Given the description of an element on the screen output the (x, y) to click on. 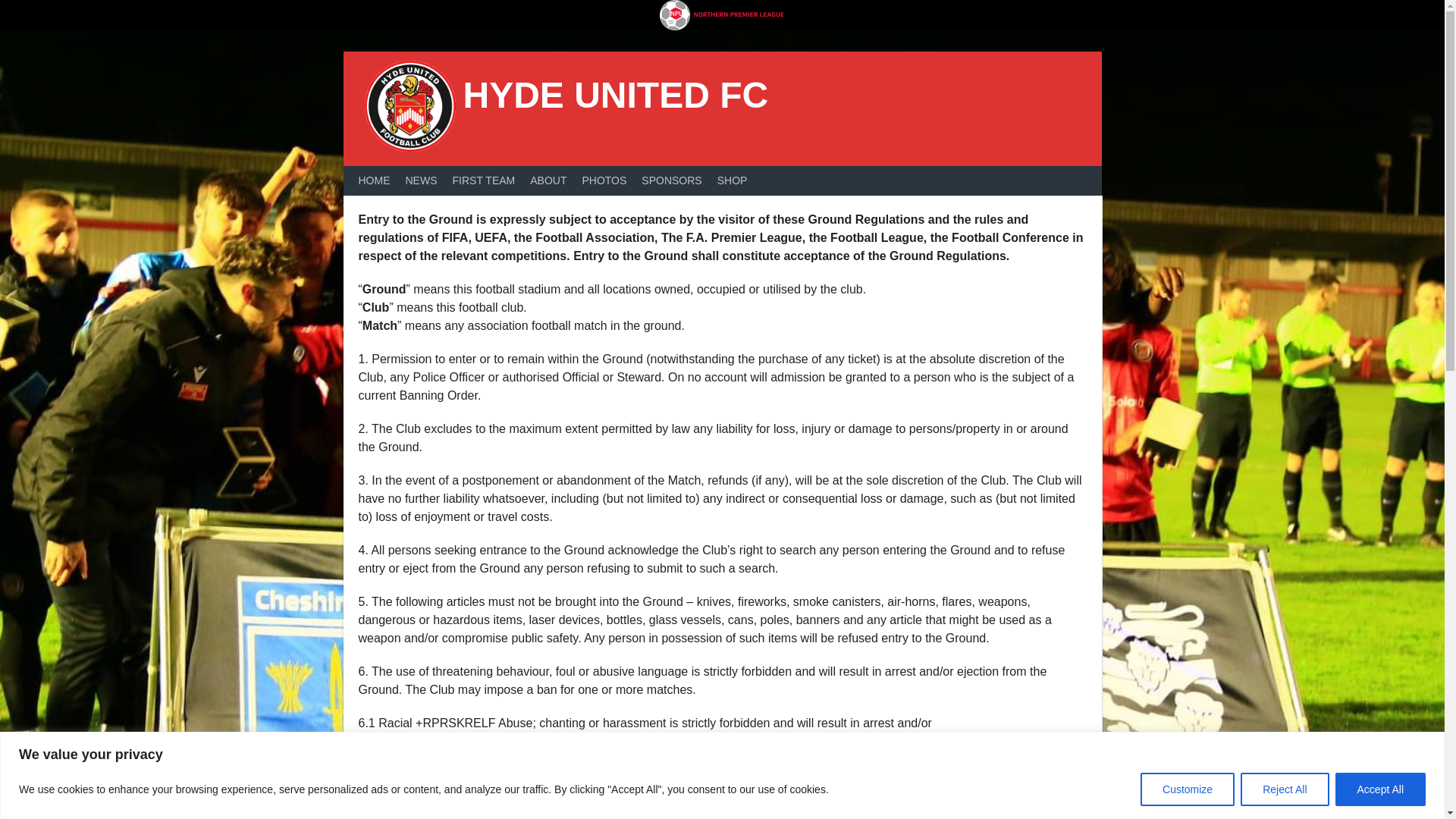
HYDE UNITED FC (615, 95)
Reject All (1283, 788)
ABOUT (547, 180)
HOME (373, 180)
Accept All (1380, 788)
FIRST TEAM (483, 180)
Customize (1187, 788)
NEWS (420, 180)
